Given the description of an element on the screen output the (x, y) to click on. 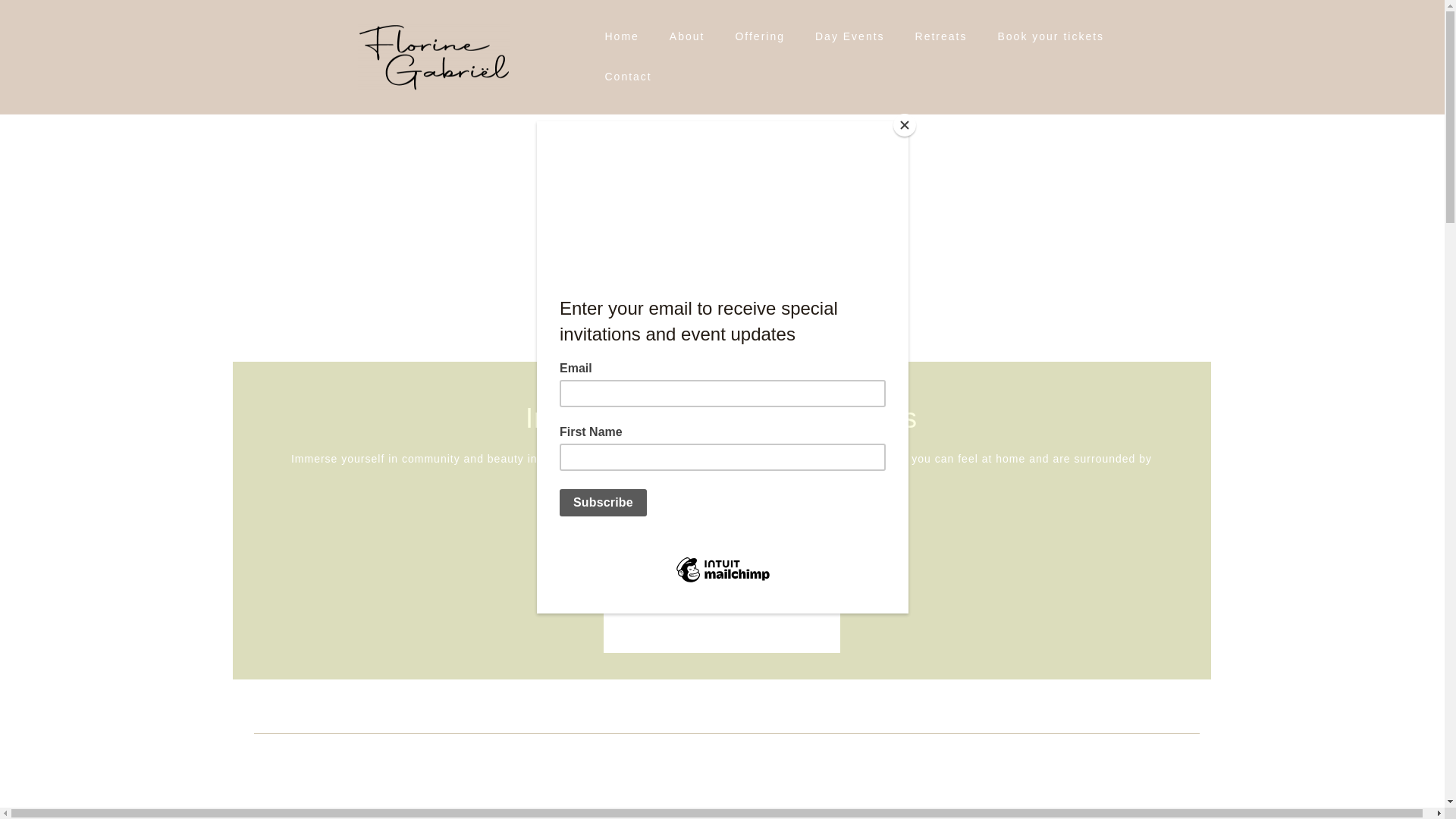
Retreats (941, 36)
About (686, 36)
Book your tickets (1051, 36)
Offering (759, 36)
Home (621, 36)
Day Events (850, 36)
Contact (627, 76)
